Given the description of an element on the screen output the (x, y) to click on. 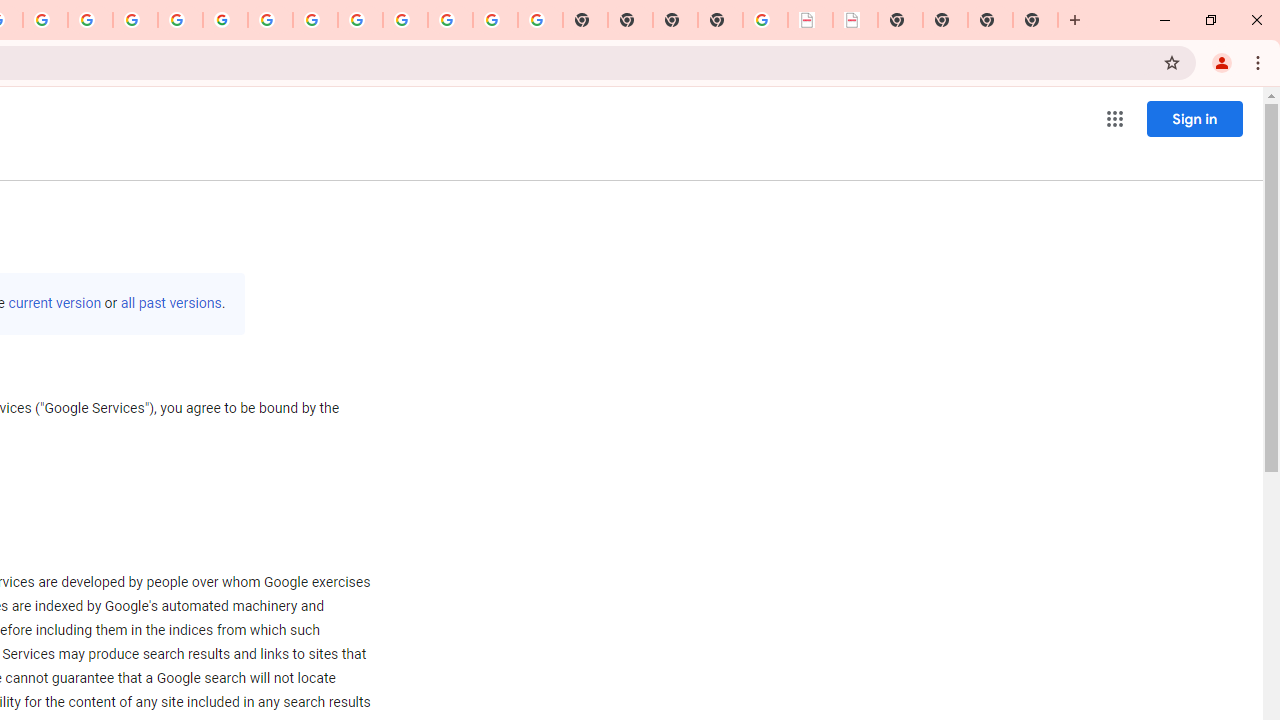
New Tab (720, 20)
Google Images (540, 20)
Privacy Help Center - Policies Help (89, 20)
Privacy Help Center - Policies Help (134, 20)
